Given the description of an element on the screen output the (x, y) to click on. 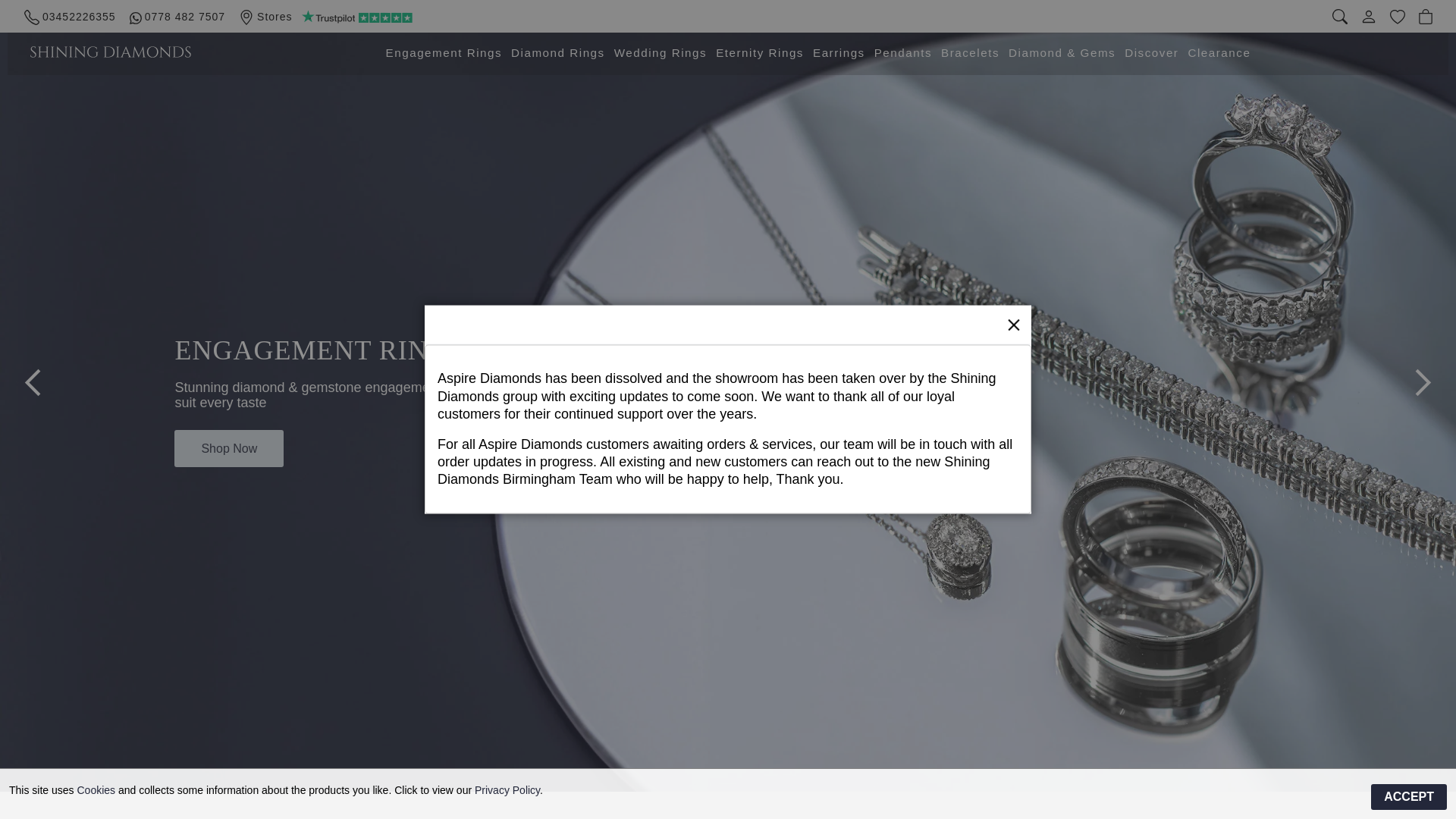
Cookies (96, 789)
bag (1421, 15)
Privacy Policy (507, 789)
03452226355 (66, 16)
Search (1336, 16)
0778 482 7507 (173, 16)
wishlist (1394, 17)
Engagement Rings (443, 52)
Stores (261, 16)
ACCEPT (1409, 796)
call (66, 16)
Stores (261, 16)
login (1365, 16)
